Given the description of an element on the screen output the (x, y) to click on. 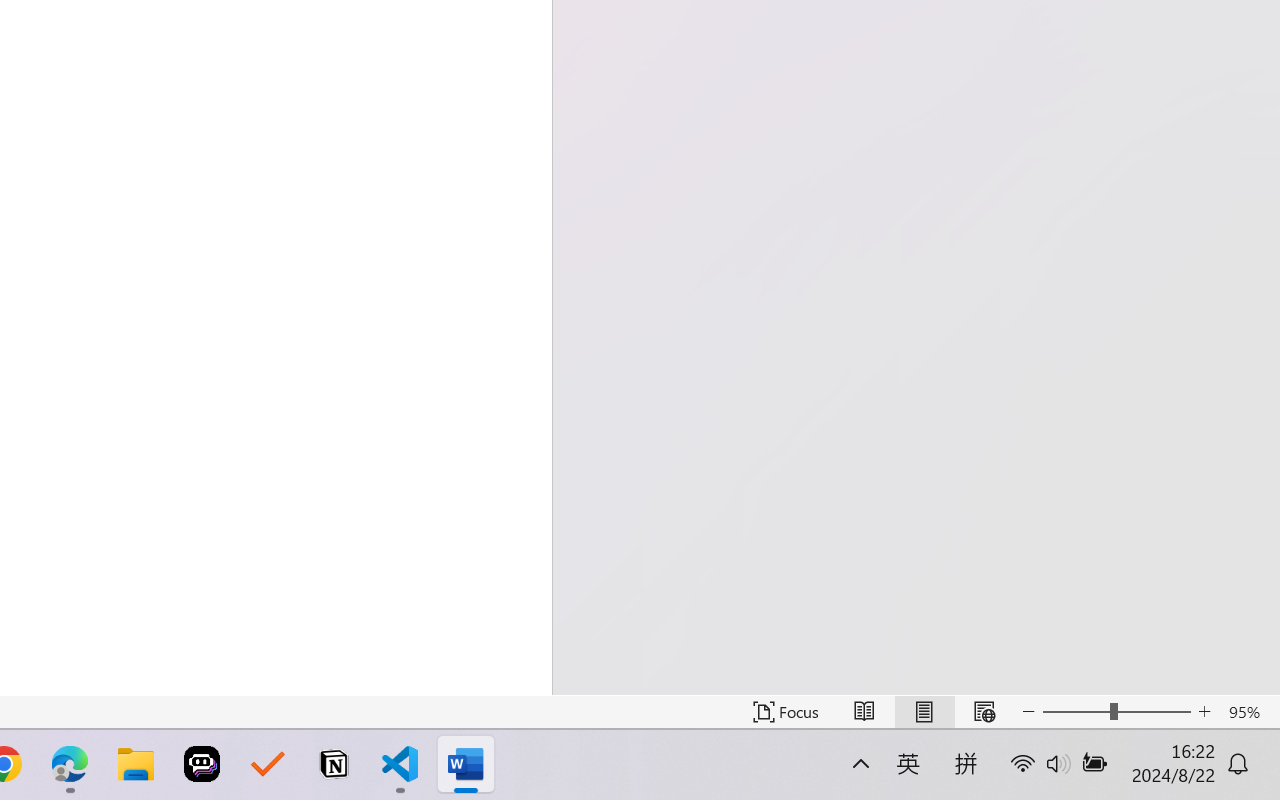
User Promoted Notification Area (1069, 777)
Show desktop (1080, 777)
